Given the description of an element on the screen output the (x, y) to click on. 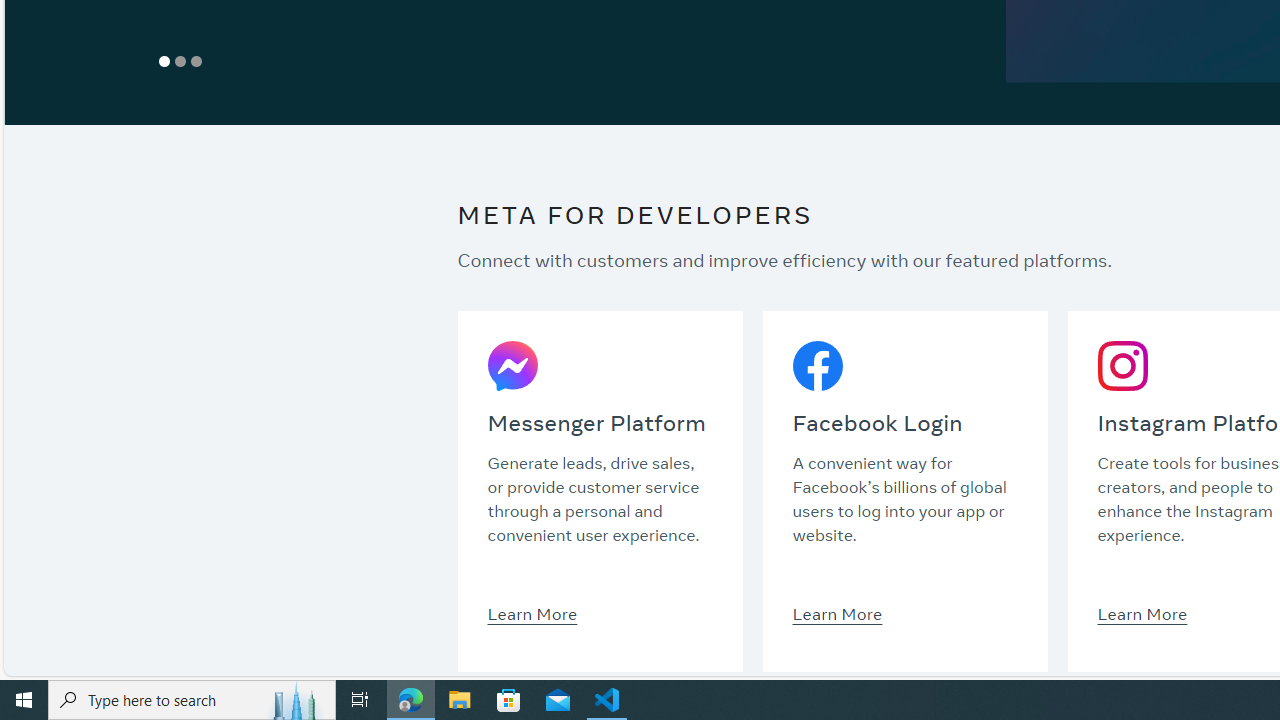
Show Slide 1 (164, 61)
Show Slide 3 (196, 61)
Show Slide 2 (180, 61)
Learn More (1141, 613)
